Given the description of an element on the screen output the (x, y) to click on. 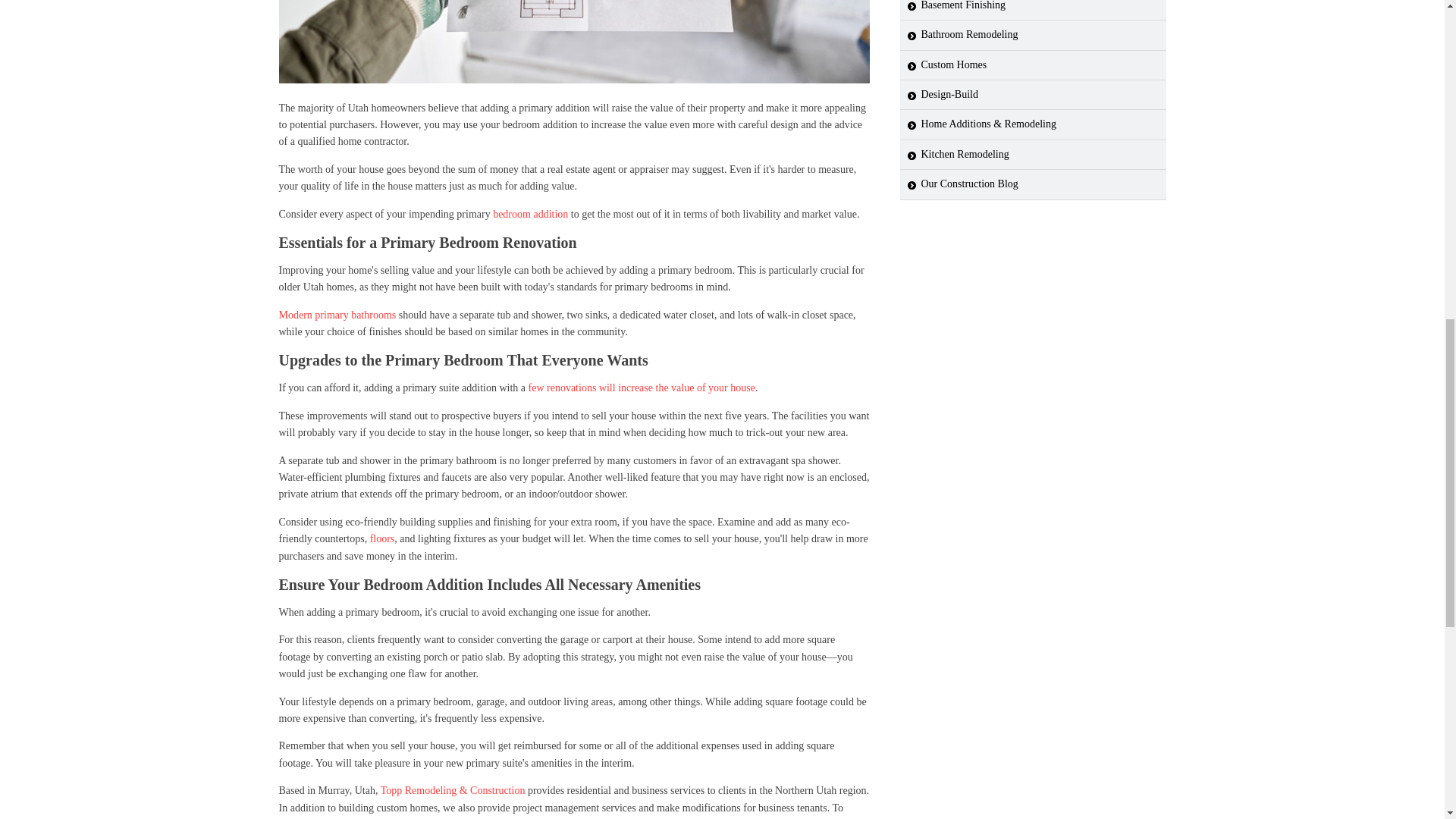
floors (381, 538)
bedroom addition (530, 214)
few renovations will increase the value of your house (641, 387)
Modern primary bathrooms (337, 315)
